Given the description of an element on the screen output the (x, y) to click on. 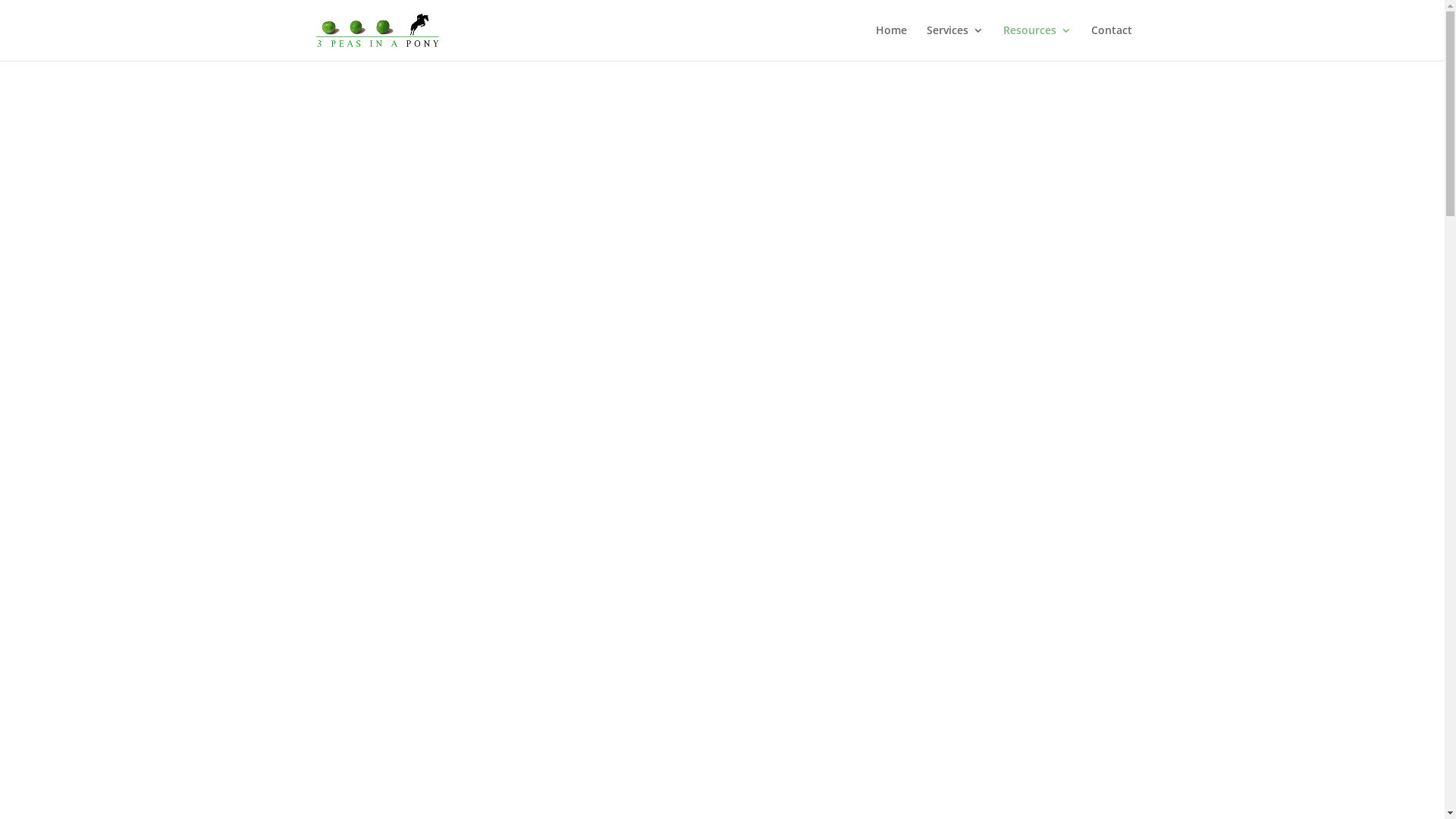
Home Element type: text (890, 42)
Resources Element type: text (1036, 42)
Contact Element type: text (1110, 42)
Services Element type: text (954, 42)
